Given the description of an element on the screen output the (x, y) to click on. 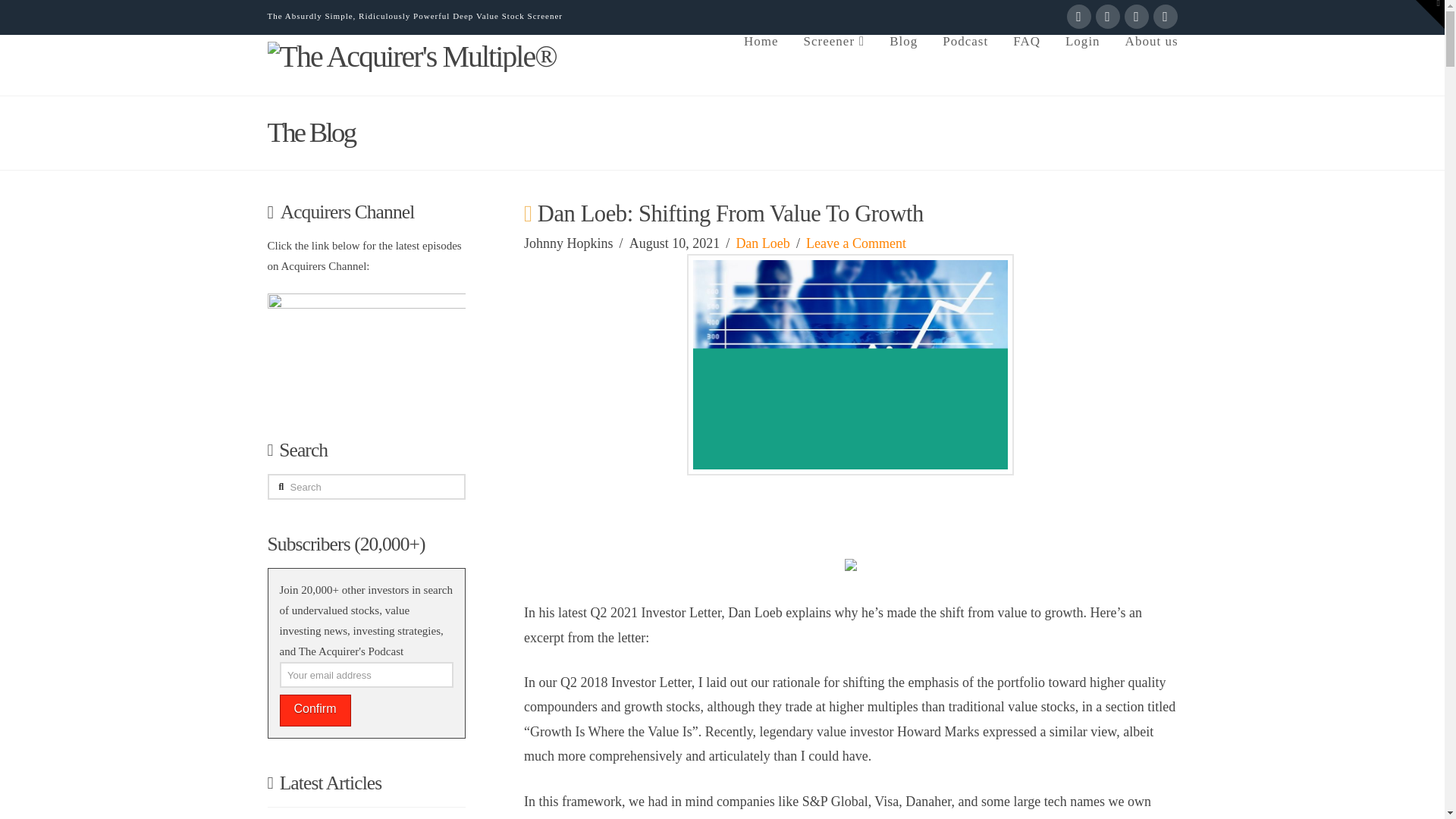
Dan Loeb (762, 242)
RSS (1164, 16)
Facebook (1077, 16)
About us (1144, 65)
Leave a Comment (855, 242)
Podcast (965, 65)
Screener (833, 65)
Confirm (314, 710)
Login (1082, 65)
Home (760, 65)
